Given the description of an element on the screen output the (x, y) to click on. 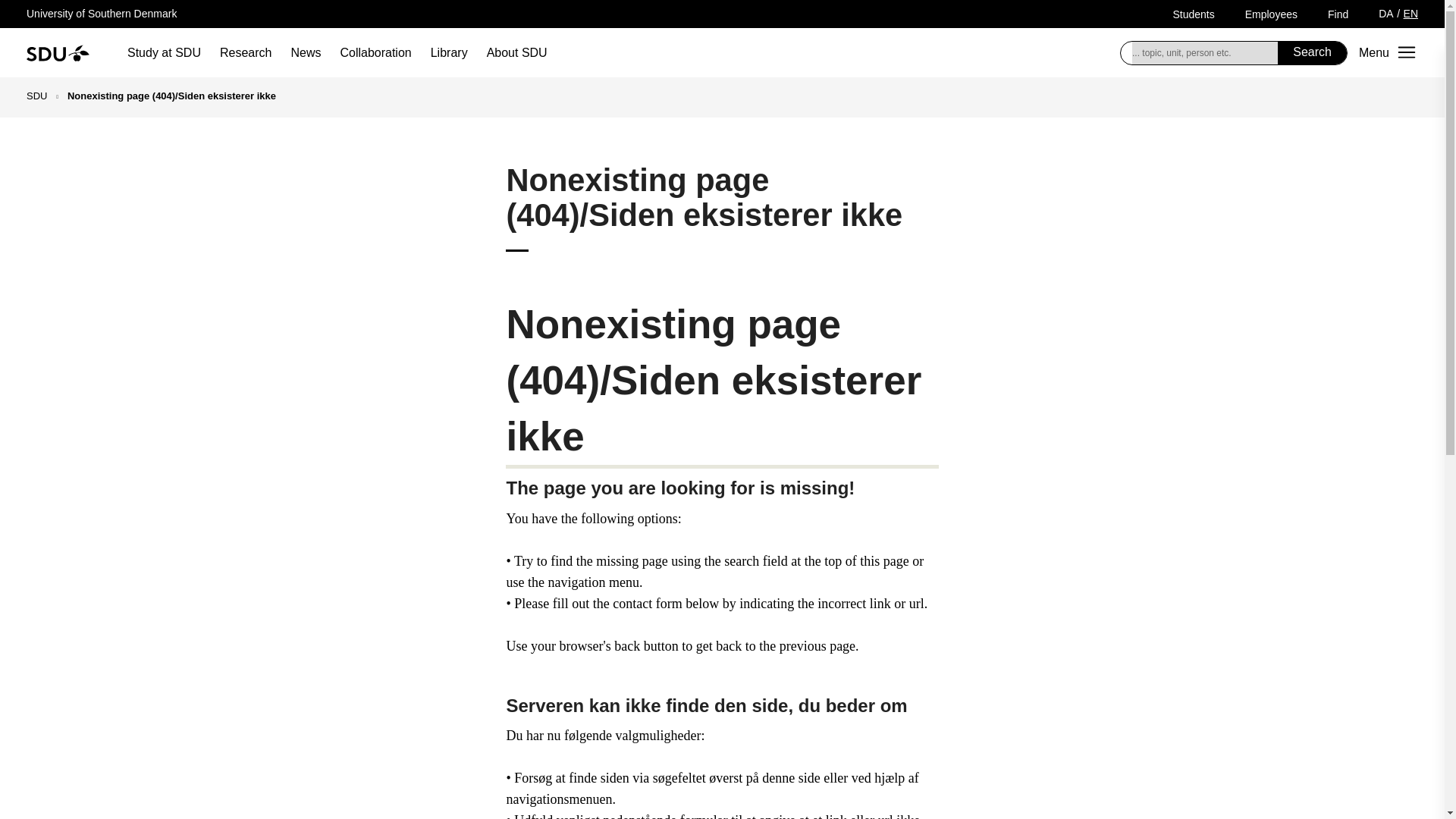
University of Southern Denmark, SDU (57, 52)
University of Southern Denmark (101, 13)
EN (1410, 13)
Students (1193, 13)
DA (1385, 13)
Find (1337, 13)
Employees (1270, 13)
